Given the description of an element on the screen output the (x, y) to click on. 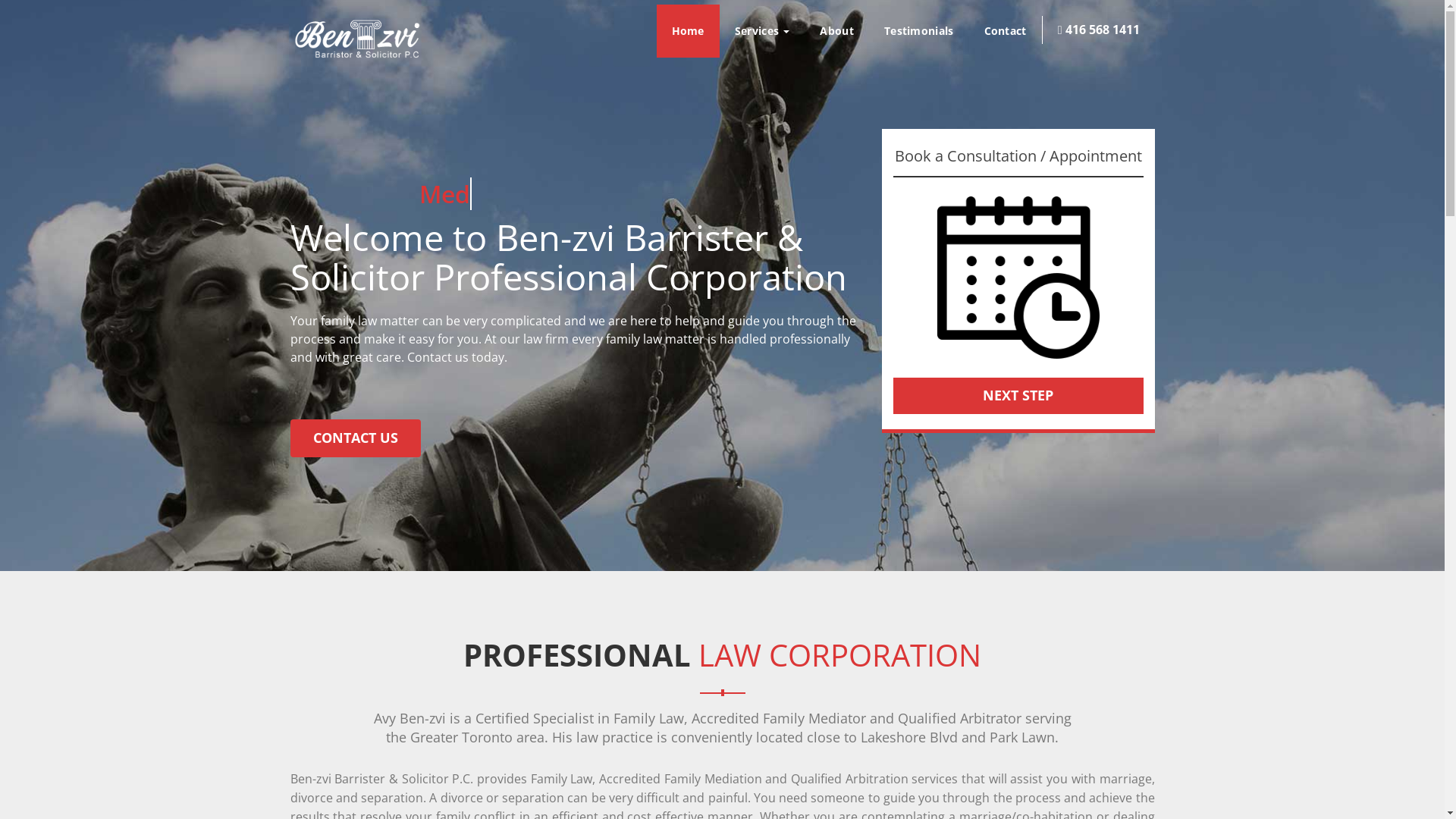
CONTACT US Element type: text (354, 438)
About Element type: text (836, 30)
Ma Element type: text (437, 193)
NEXT STEP Element type: text (1018, 395)
Testimonials Element type: text (919, 30)
Services Element type: text (762, 30)
Home Element type: text (687, 30)
Contact Element type: text (1005, 30)
